Given the description of an element on the screen output the (x, y) to click on. 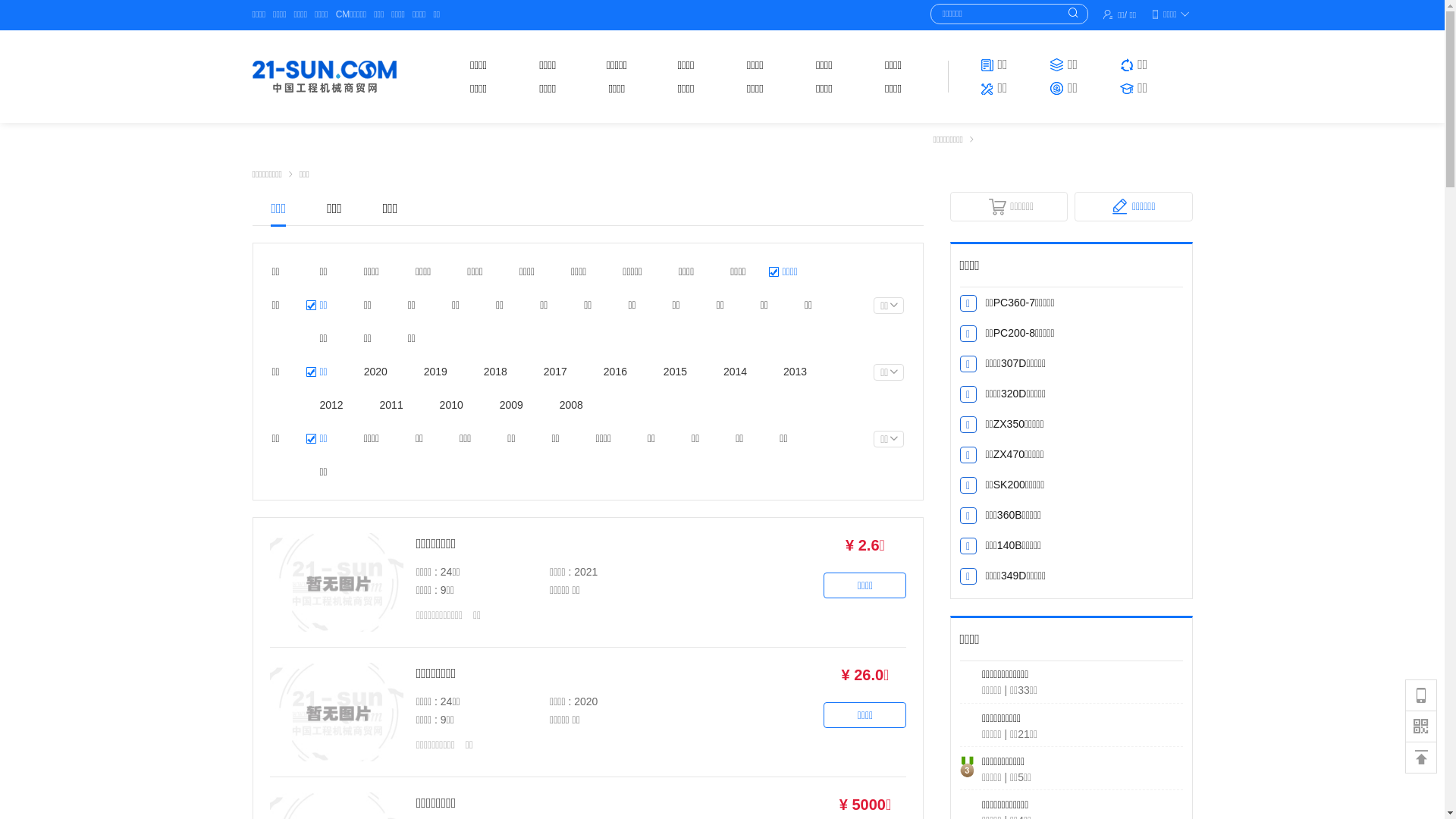
2017 Element type: text (550, 371)
2016 Element type: text (610, 371)
2020 Element type: text (371, 371)
2009 Element type: text (506, 404)
2012 Element type: text (327, 404)
2008 Element type: text (566, 404)
2011 Element type: text (386, 404)
2015 Element type: text (670, 371)
2019 Element type: text (430, 371)
2014 Element type: text (730, 371)
2018 Element type: text (490, 371)
2013 Element type: text (790, 371)
2010 Element type: text (446, 404)
